Given the description of an element on the screen output the (x, y) to click on. 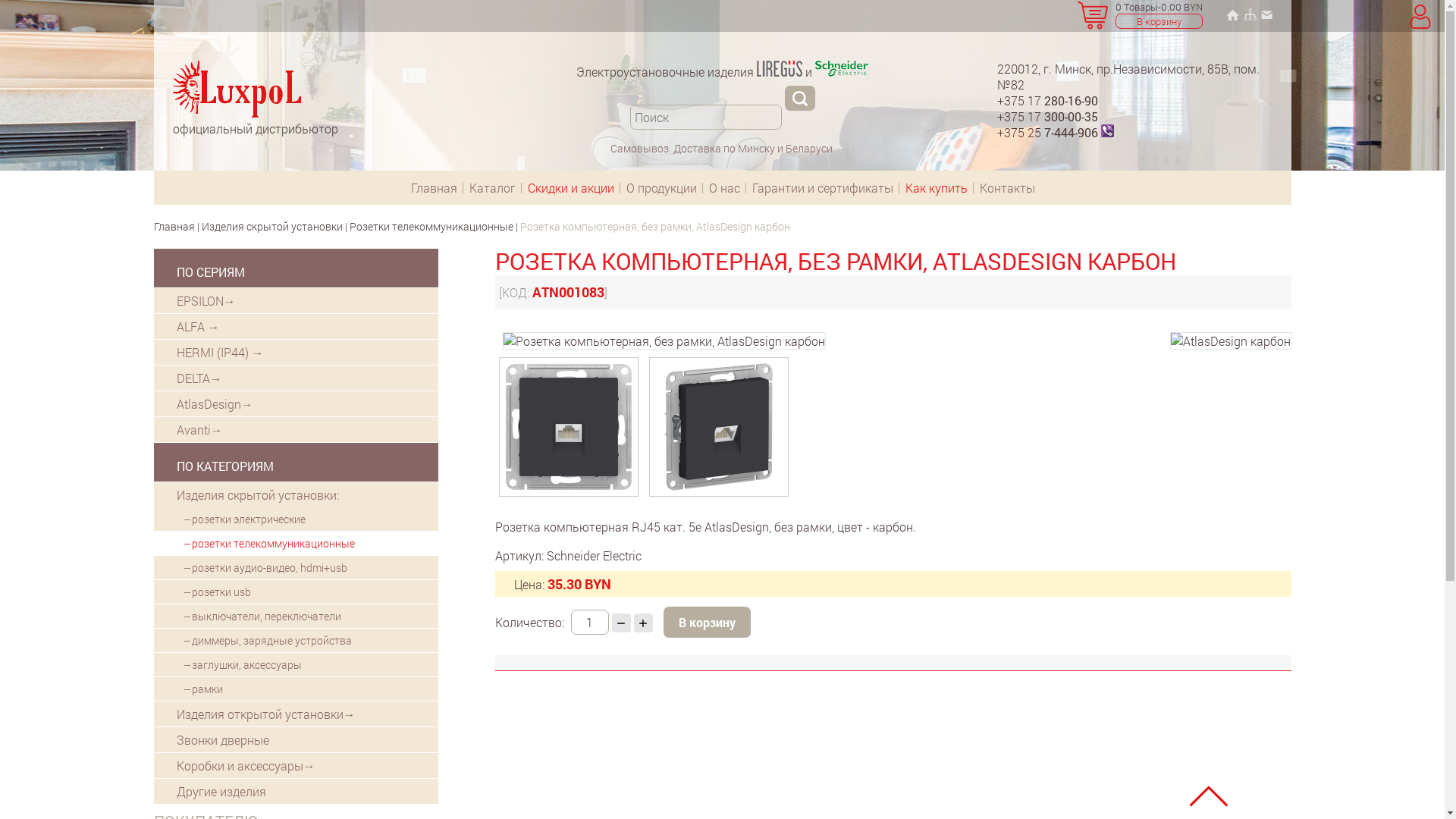
DELTA Element type: text (295, 377)
HERMI (IP44) Element type: text (295, 351)
ALFA Element type: text (295, 325)
AtlasDesign Element type: text (295, 403)
Avanti Element type: text (295, 429)
EPSILON Element type: text (295, 300)
